Given the description of an element on the screen output the (x, y) to click on. 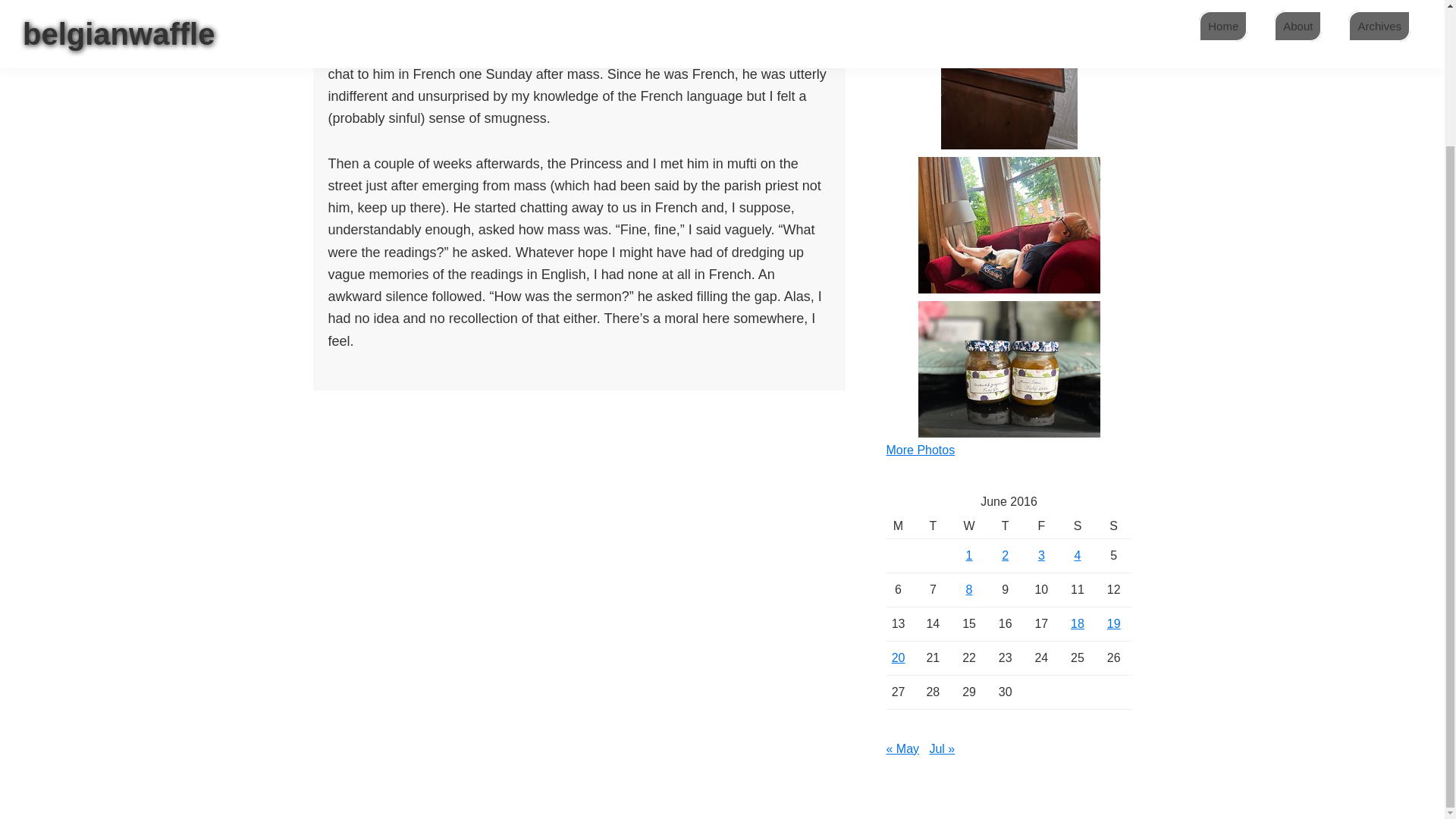
Sunday (1114, 526)
Friday (1041, 526)
Dublin (411, 14)
More Photos (920, 449)
Saturday (1077, 526)
Wednesday (968, 526)
Thursday (1005, 526)
20 (898, 657)
18 (1077, 623)
19 (1113, 623)
